Given the description of an element on the screen output the (x, y) to click on. 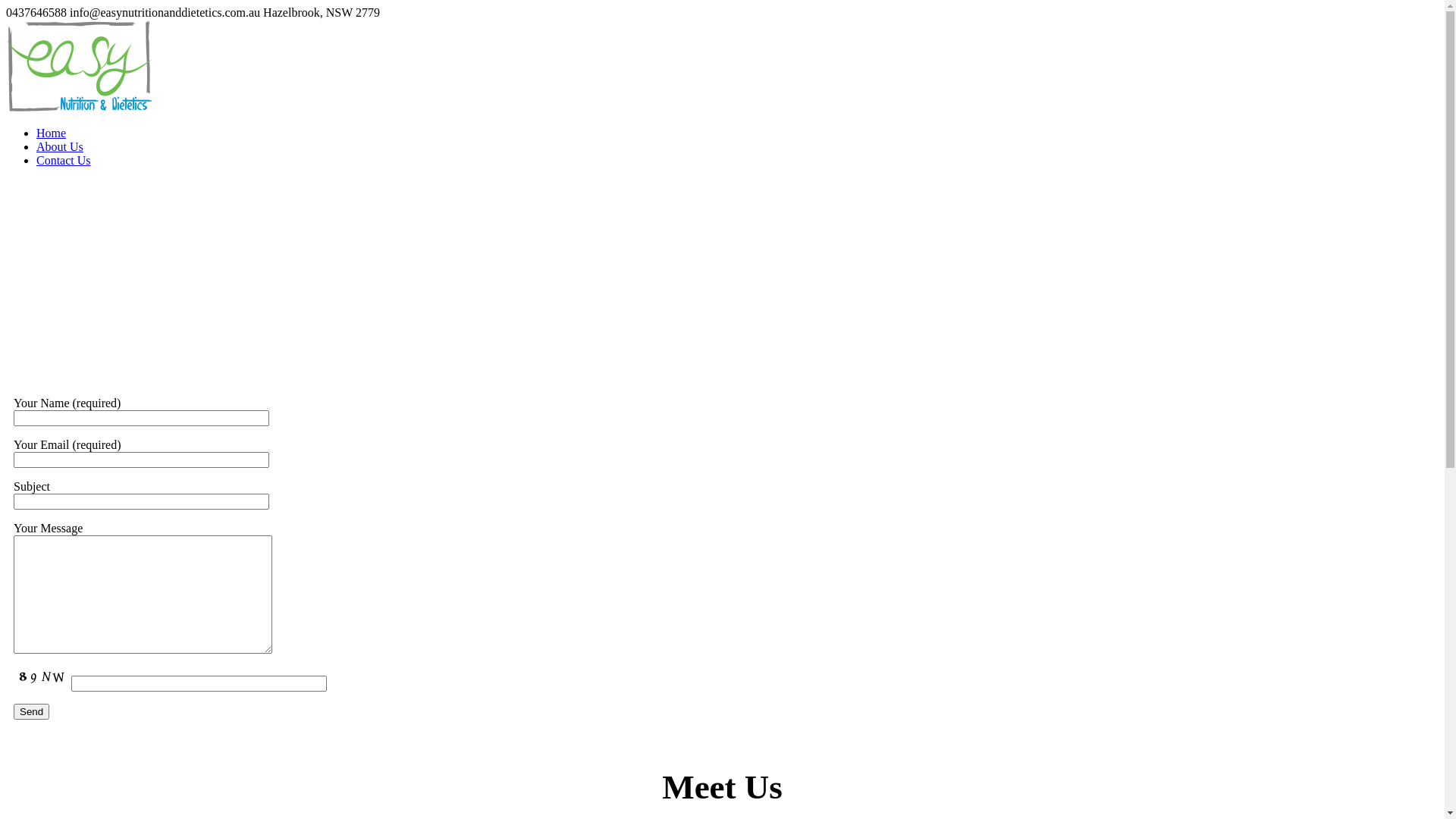
Send Element type: text (31, 711)
About Us Element type: text (59, 146)
Easy Nutrition and dietetics - Easy Nutrition and dietetics Element type: hover (78, 106)
Contact Us Element type: text (63, 159)
Home Element type: text (50, 132)
